Given the description of an element on the screen output the (x, y) to click on. 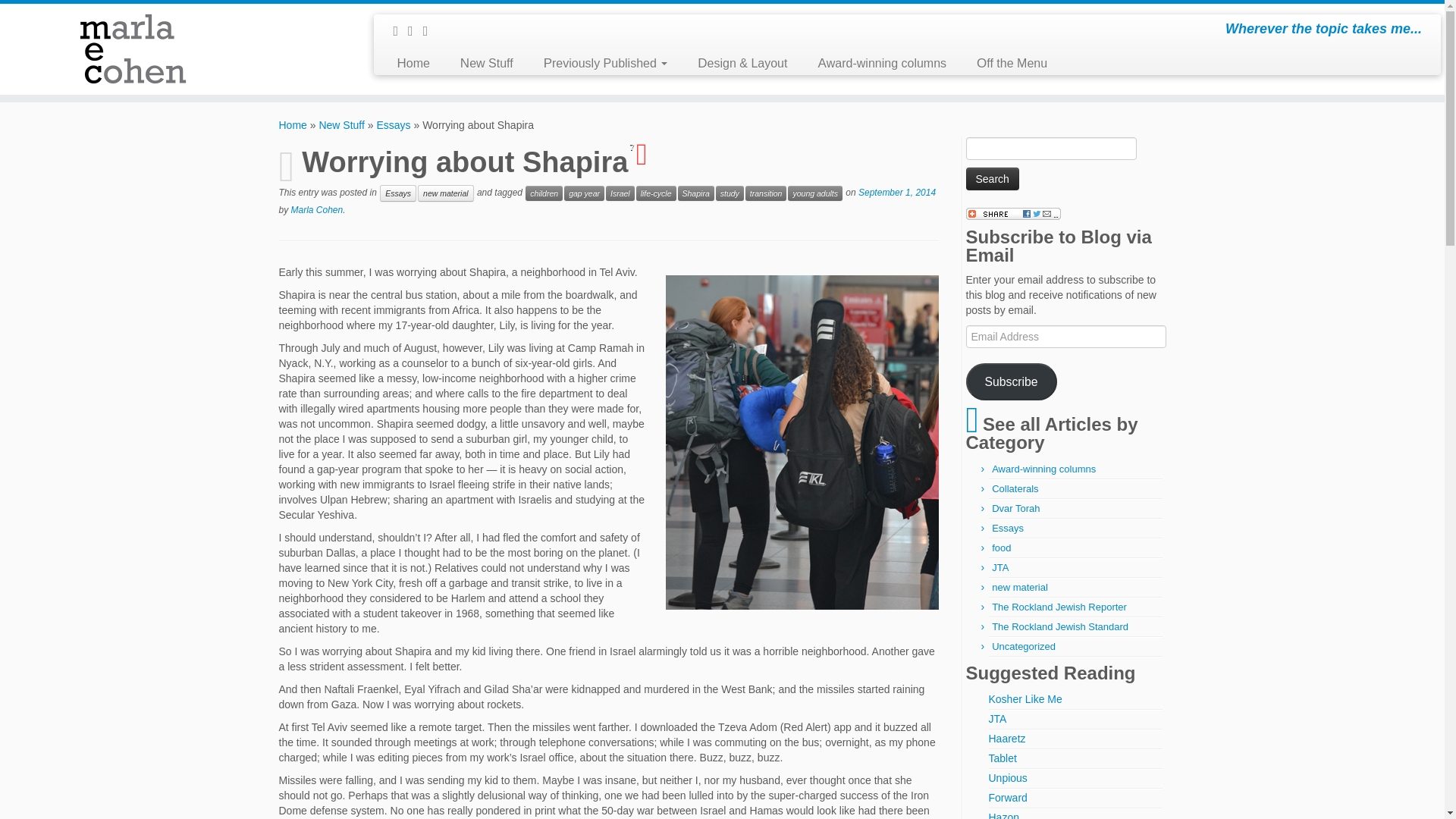
Shapira (696, 192)
transition (766, 192)
Search (992, 178)
Essays (392, 124)
Off the Menu (1011, 63)
New Stuff (486, 63)
Home (412, 63)
Israel (619, 192)
Home (293, 124)
life-cycle (656, 192)
Award-winning columns (881, 63)
7 (652, 154)
young adults (815, 192)
View all posts in Essays (398, 193)
Previously Published (605, 63)
